Given the description of an element on the screen output the (x, y) to click on. 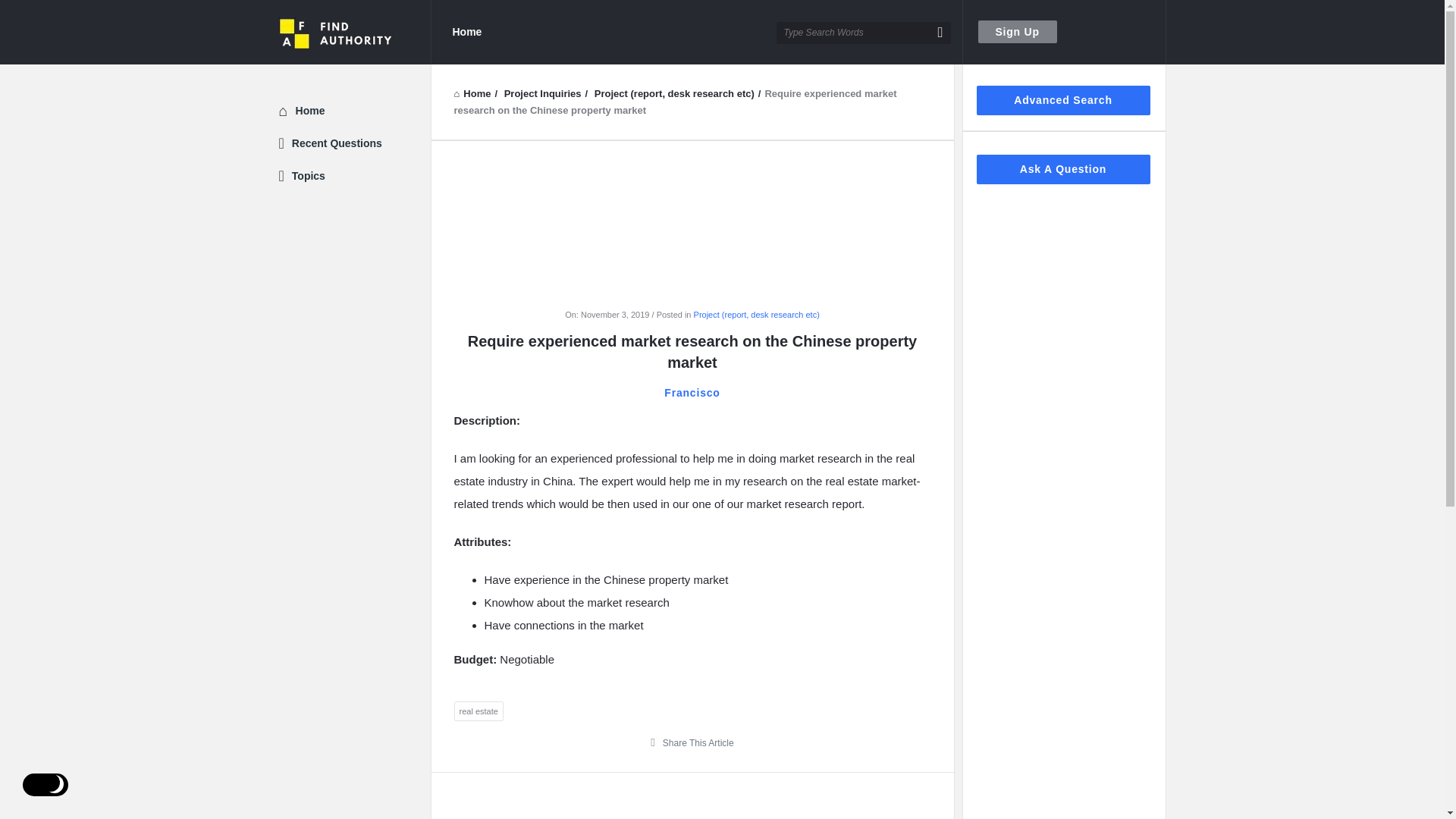
Home (471, 93)
Find Authority (336, 32)
Find Authority (354, 32)
Advanced Search (1063, 100)
Advertisement (691, 807)
Ask A Question (1063, 169)
real estate (477, 711)
Home (466, 32)
Home (471, 93)
Project Inquiries (541, 93)
Home (309, 110)
Sign Up (1017, 31)
Recent Questions (336, 143)
Francisco (691, 392)
Topics (308, 175)
